Given the description of an element on the screen output the (x, y) to click on. 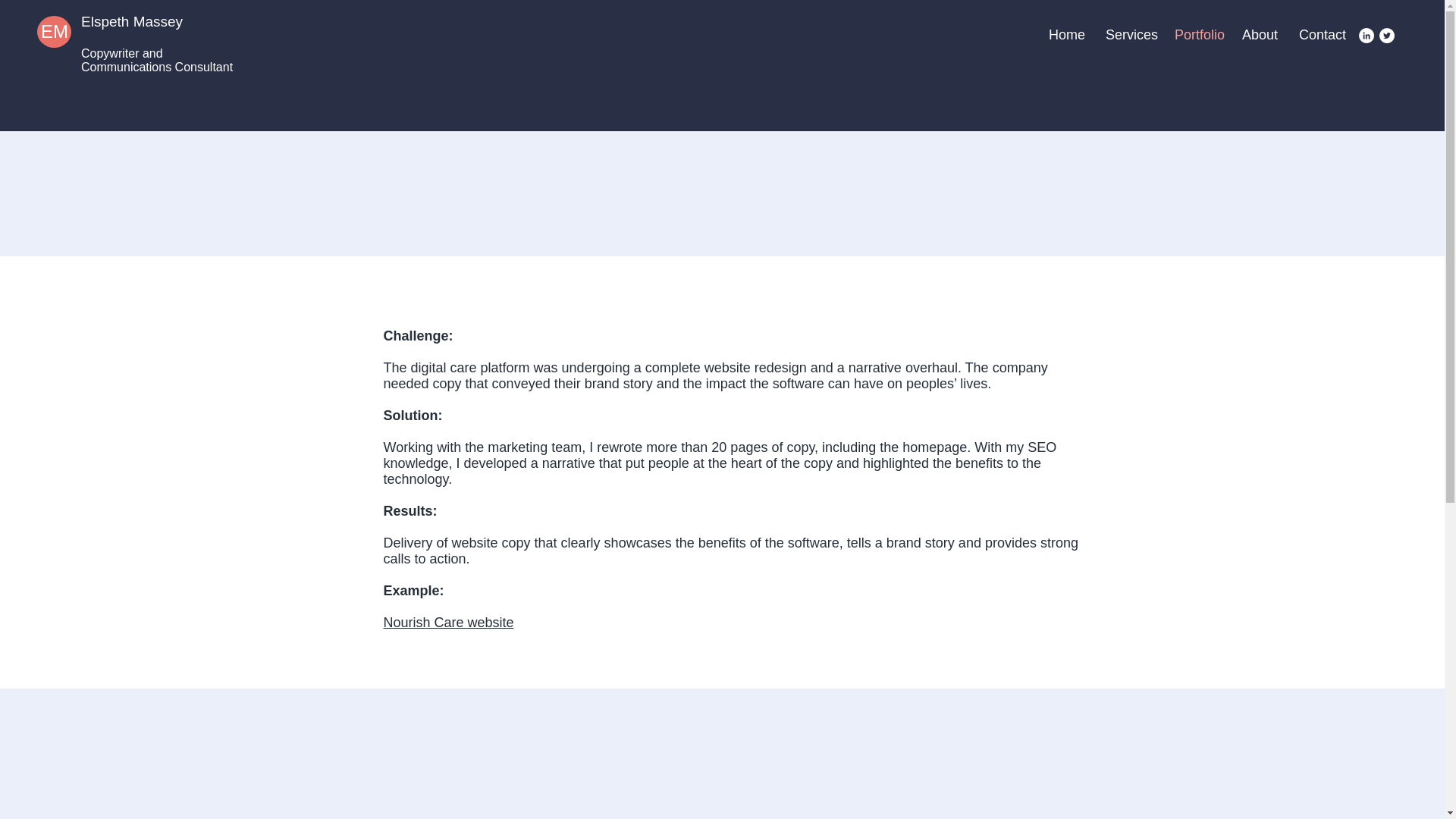
EM (54, 31)
Nourish Care website (448, 622)
Copywriter and Communications  (127, 59)
About (1258, 34)
Portfolio (1196, 34)
Services (1128, 34)
Elspeth Massey (132, 21)
Home (1065, 34)
Contact (1321, 34)
